Given the description of an element on the screen output the (x, y) to click on. 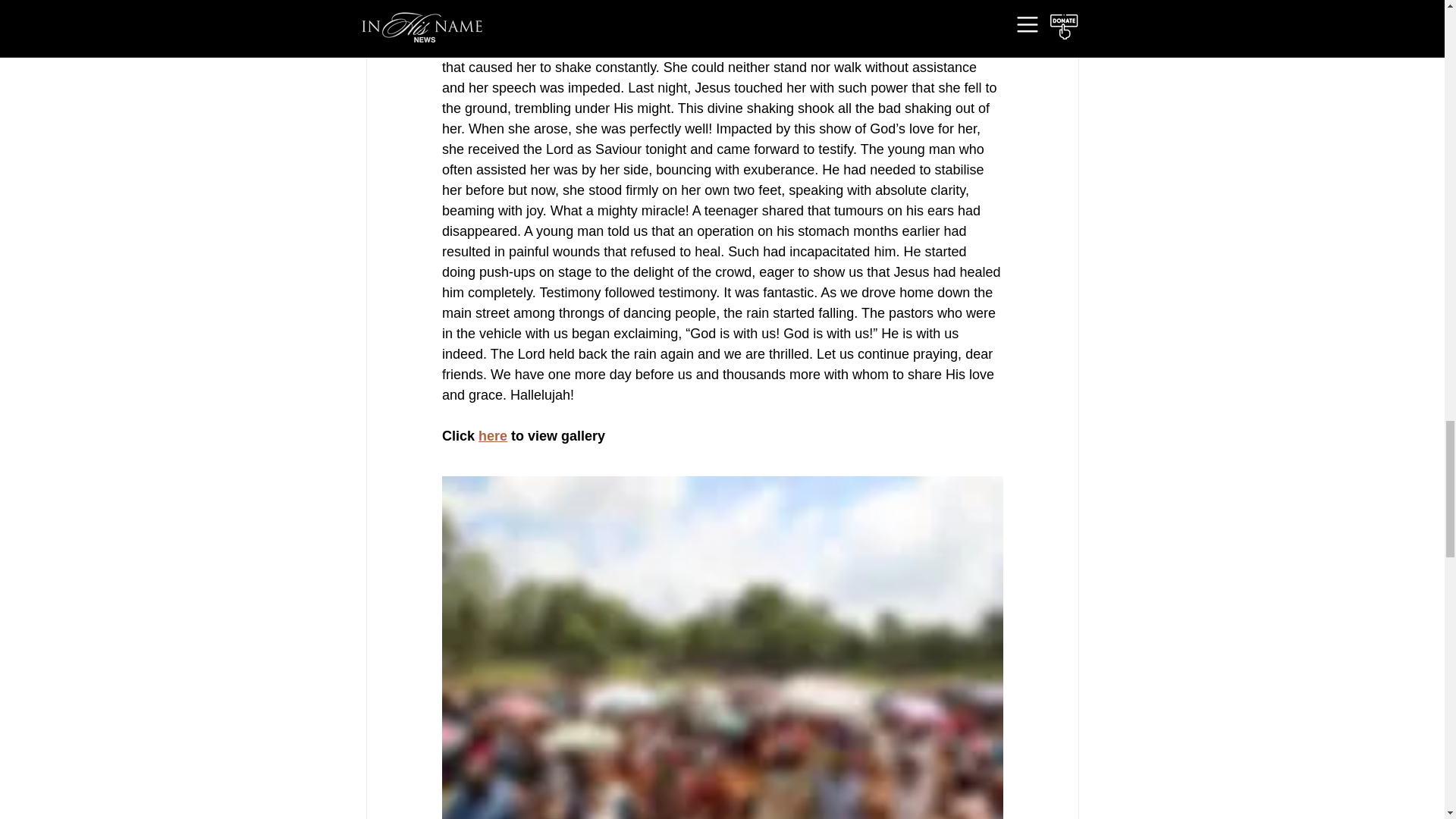
here (492, 435)
